Given the description of an element on the screen output the (x, y) to click on. 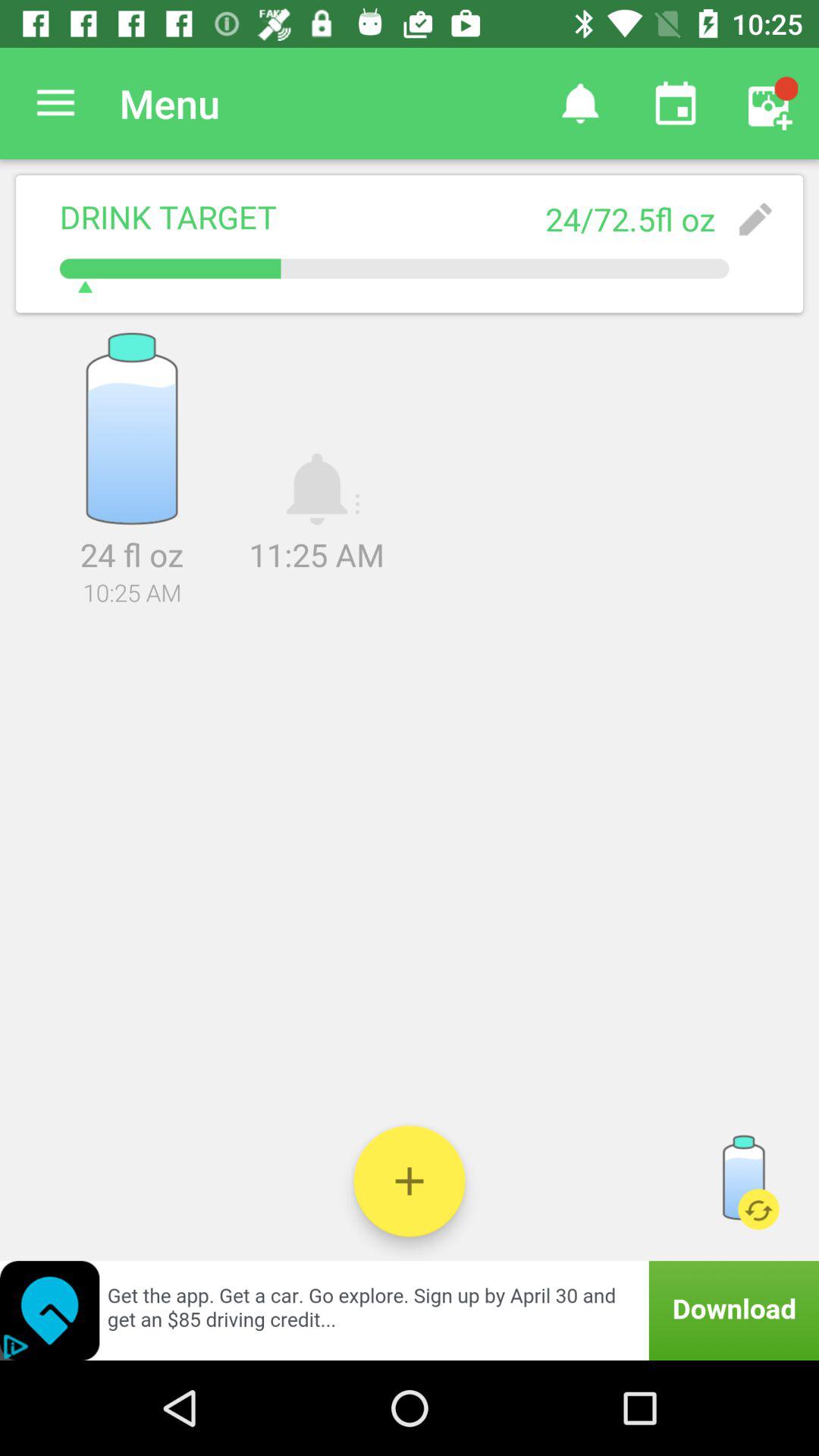
turn off icon above 24 72 5fl item (771, 103)
